Given the description of an element on the screen output the (x, y) to click on. 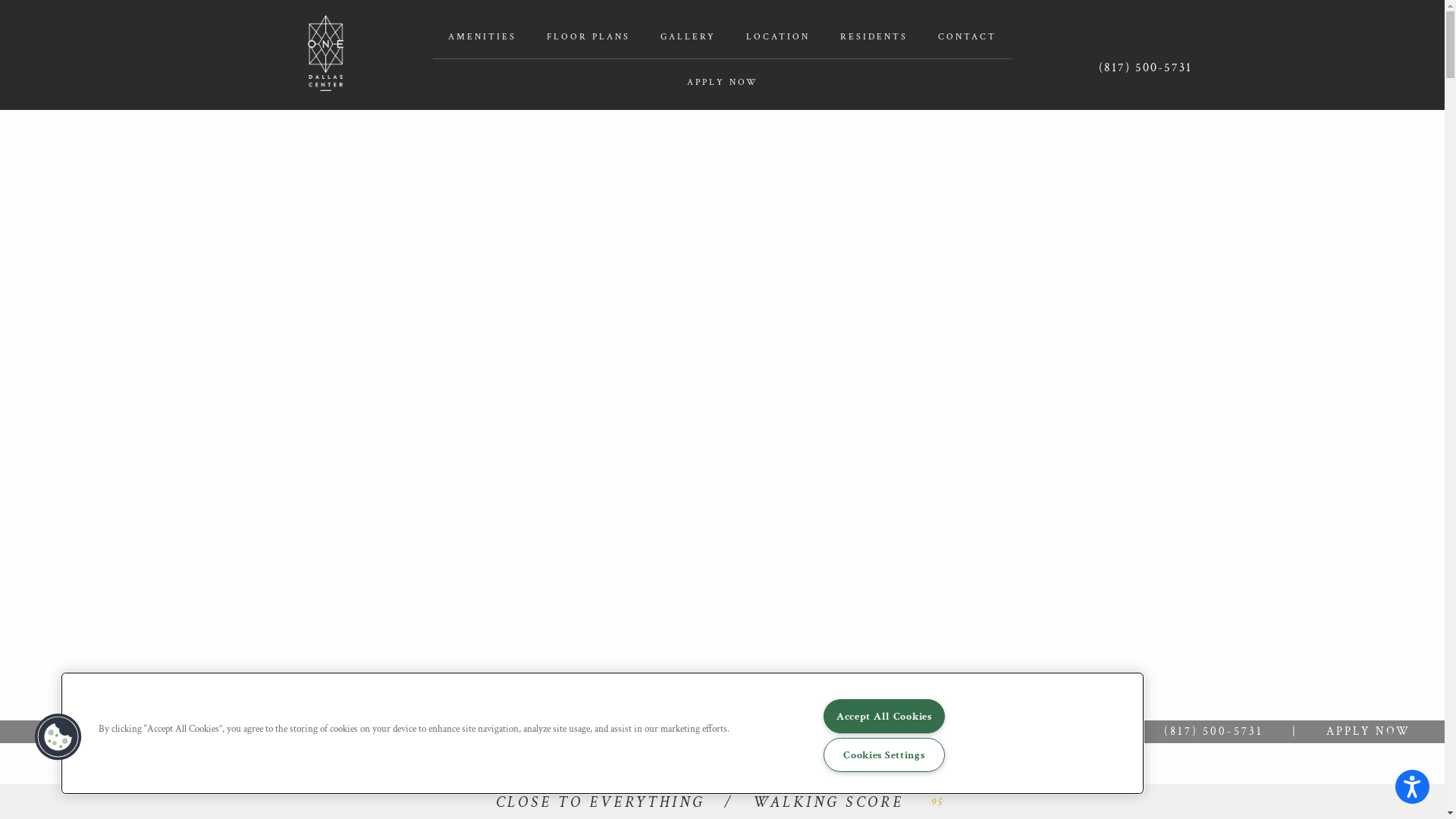
GALLERY Element type: text (688, 37)
Home Element type: hover (324, 53)
AMENITIES Element type: text (482, 37)
Cookies Button Element type: text (58, 736)
Cookies Settings Element type: text (883, 754)
LOCATION Element type: text (778, 37)
RESIDENTS Element type: text (873, 37)
FLOOR PLANS Element type: text (588, 37)
APPLY NOW Element type: text (1365, 731)
(817) 500-5731 Element type: text (1144, 67)
APPLY NOW Element type: text (722, 81)
Accept All Cookies Element type: text (883, 716)
(817) 500-5731 Element type: text (1213, 731)
CONTACT Element type: text (966, 37)
